Given the description of an element on the screen output the (x, y) to click on. 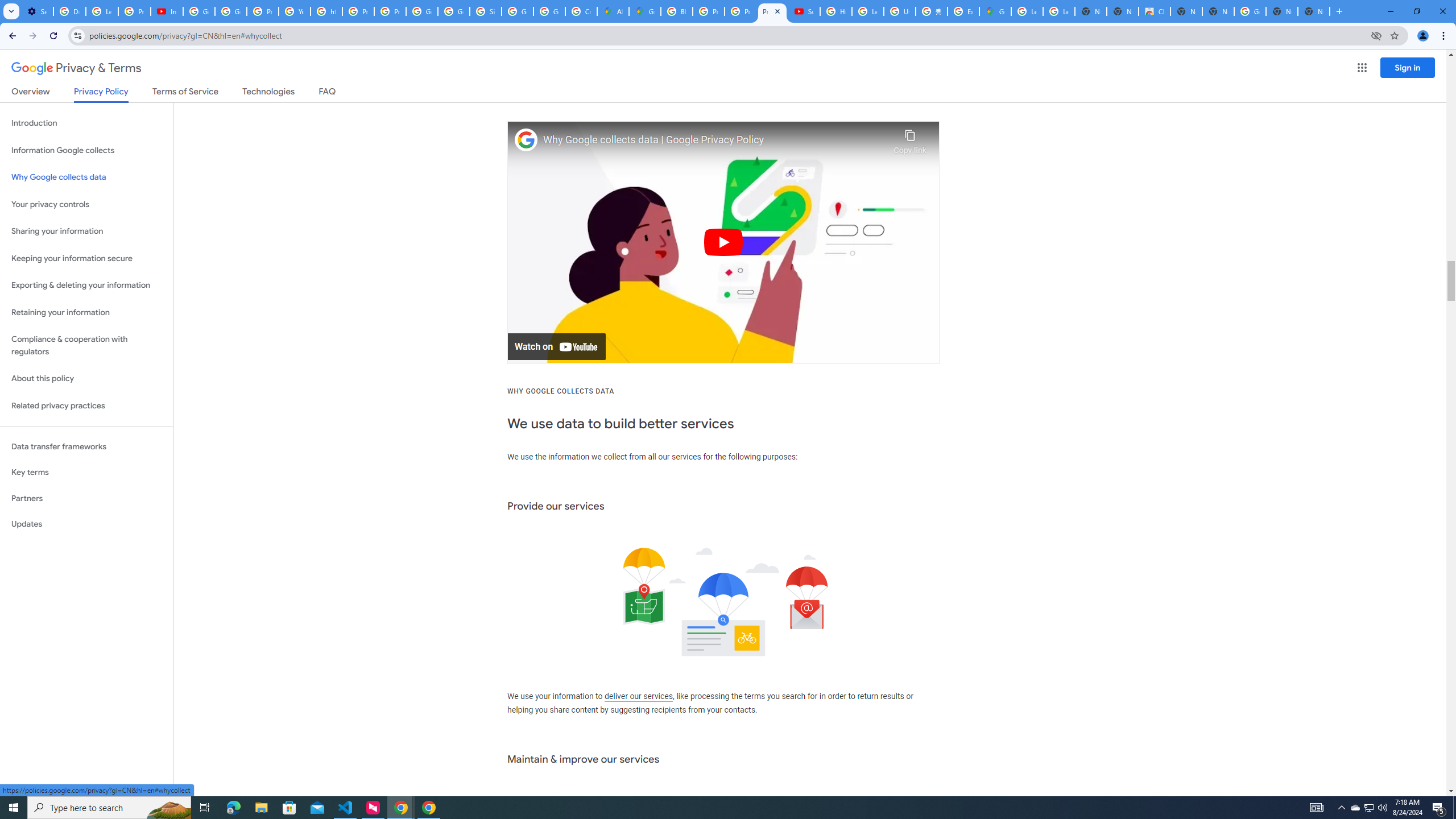
Subscriptions - YouTube (804, 11)
Compliance & cooperation with regulators (86, 345)
Chrome Web Store (1154, 11)
Play (723, 242)
Why Google collects data (86, 176)
Privacy Help Center - Policies Help (708, 11)
Keeping your information secure (86, 258)
